Given the description of an element on the screen output the (x, y) to click on. 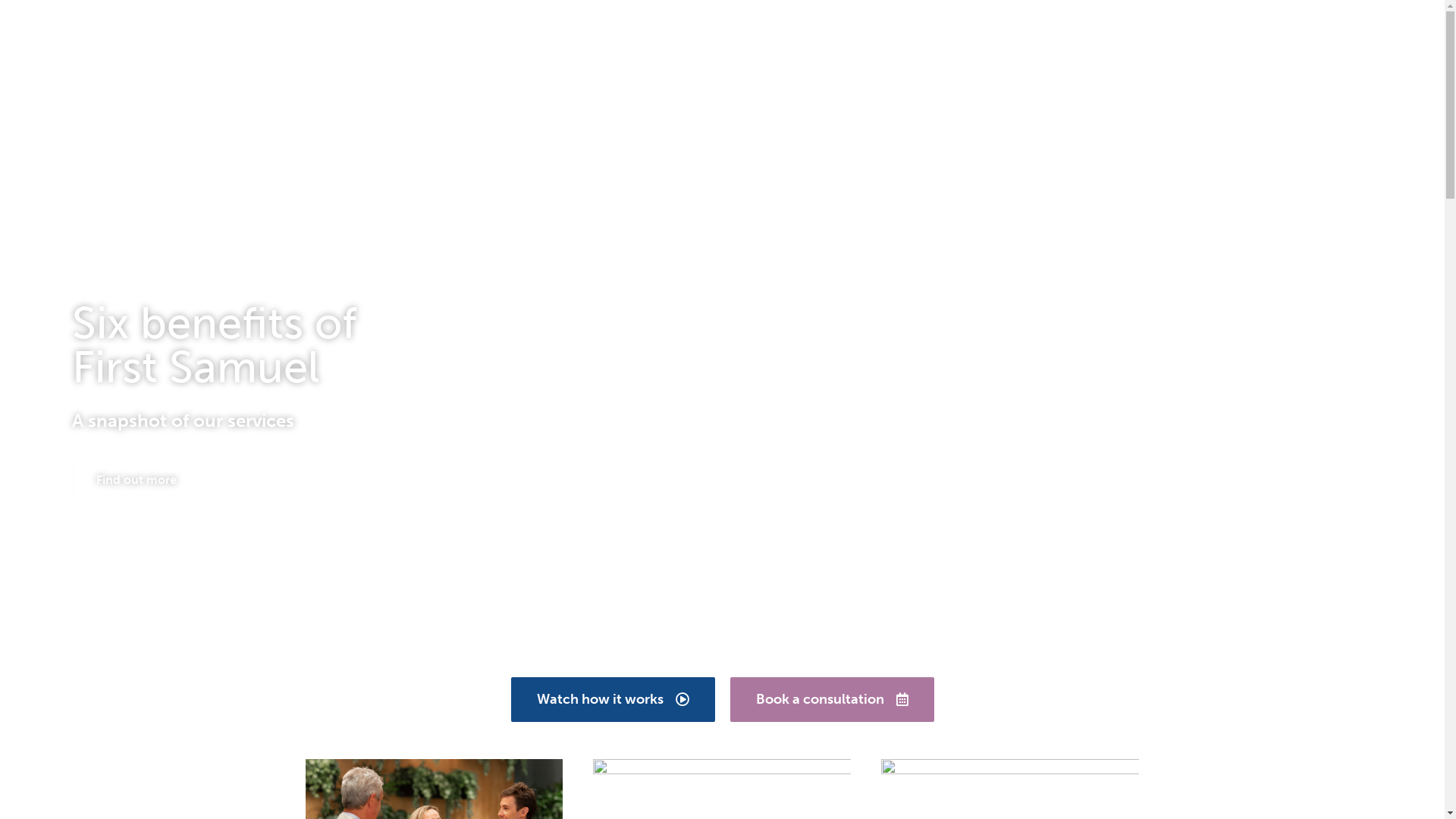
Watch how it works Element type: text (613, 699)
What we do Element type: text (800, 52)
Book a consultation Element type: text (831, 699)
Get the latest Element type: text (1069, 52)
Get to know us Element type: text (932, 52)
